Given the description of an element on the screen output the (x, y) to click on. 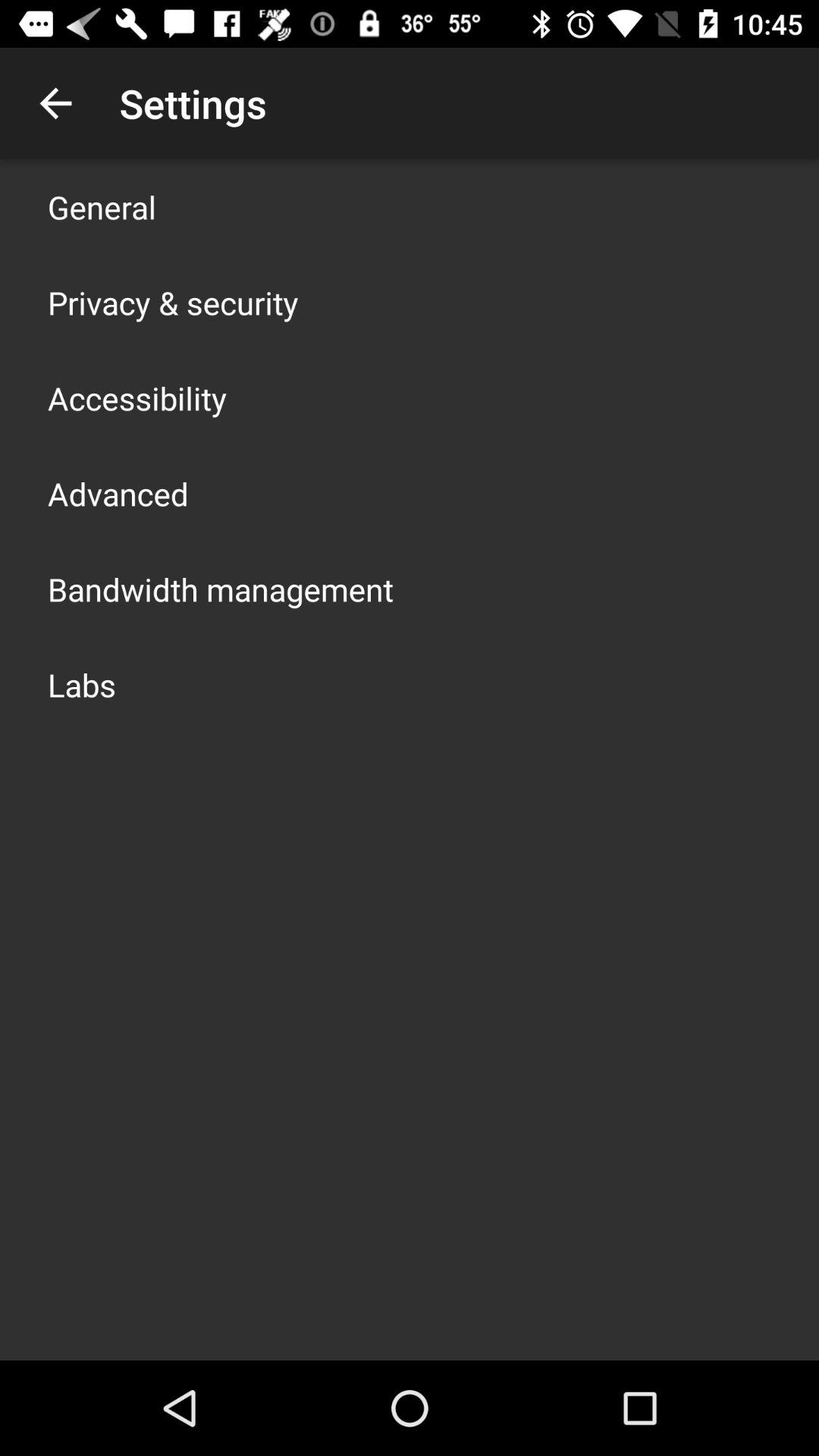
launch the icon below general item (172, 302)
